Given the description of an element on the screen output the (x, y) to click on. 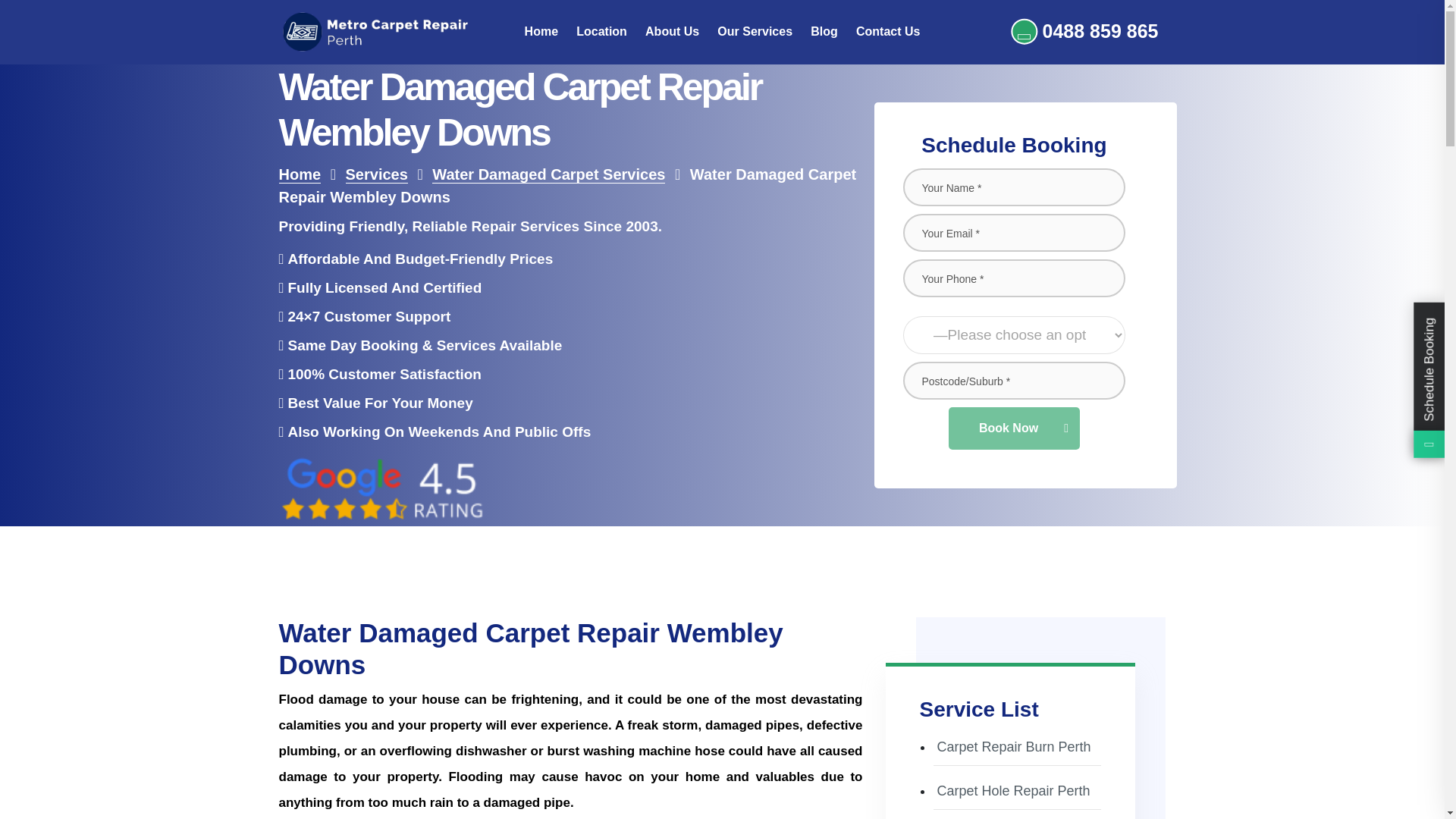
About Us (671, 31)
Go to Services. (376, 174)
Go to Metro Carpet Repair Perth. (300, 174)
Our Services (754, 31)
Home (540, 31)
Blog (824, 31)
Location (601, 31)
